Given the description of an element on the screen output the (x, y) to click on. 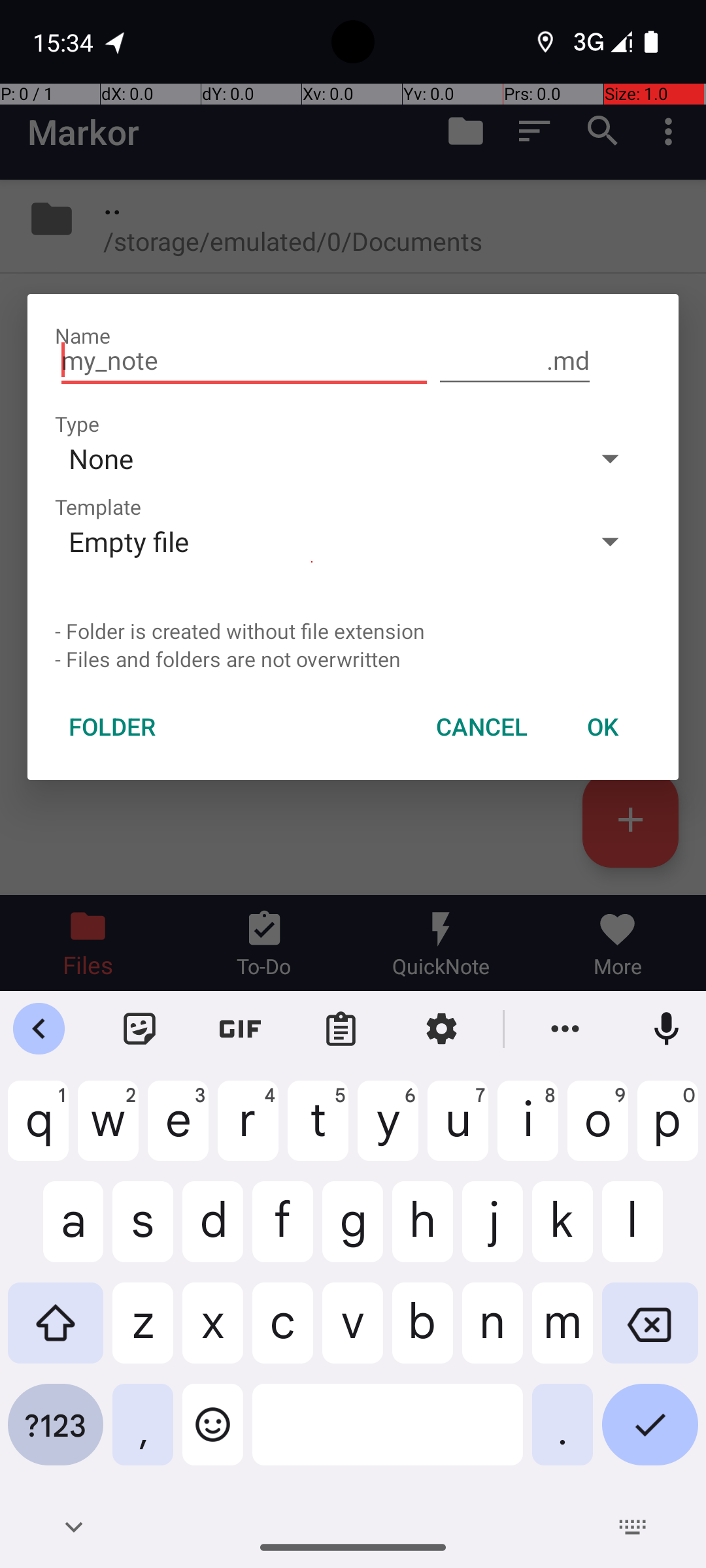
.md Element type: android.widget.EditText (514, 360)
None Element type: android.widget.TextView (311, 457)
